Given the description of an element on the screen output the (x, y) to click on. 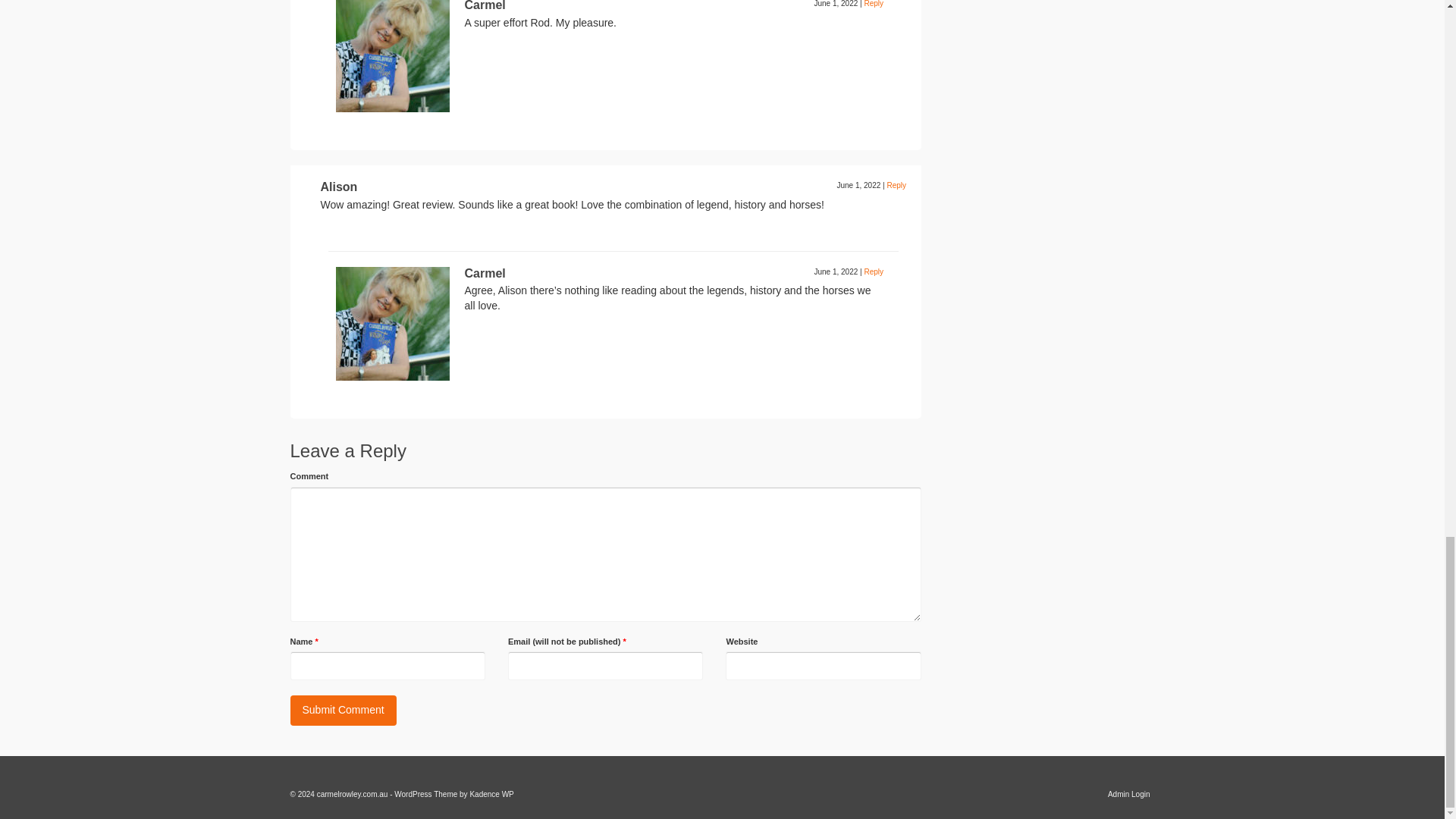
Reply (873, 3)
Reply (895, 184)
Submit Comment (342, 710)
Admin Login (1128, 794)
Reply (873, 271)
Submit Comment (342, 710)
Kadence WP (490, 794)
Alison (338, 186)
